Given the description of an element on the screen output the (x, y) to click on. 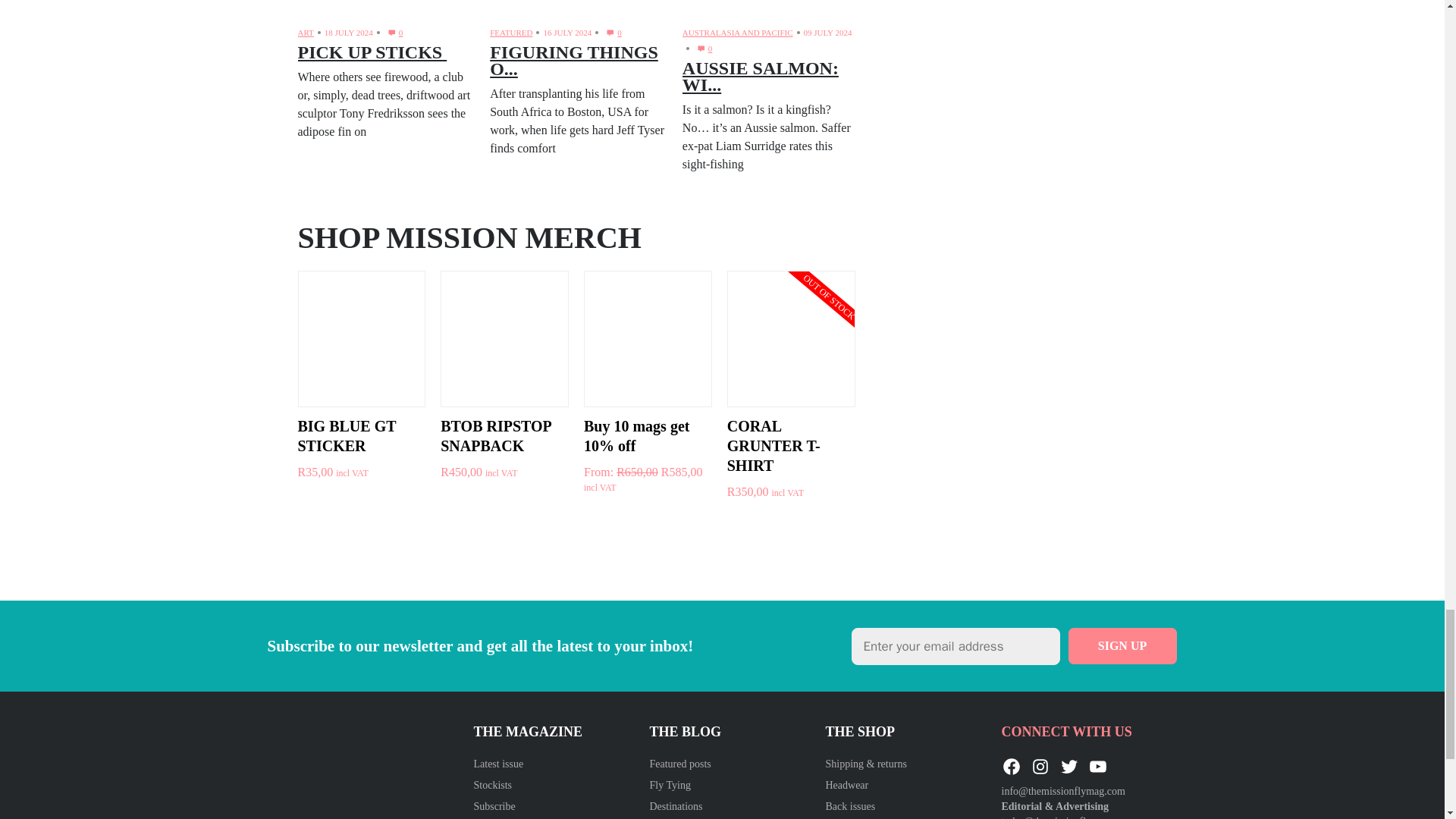
0 (611, 32)
Sign Up (1122, 646)
0 (703, 48)
0 (393, 32)
